Given the description of an element on the screen output the (x, y) to click on. 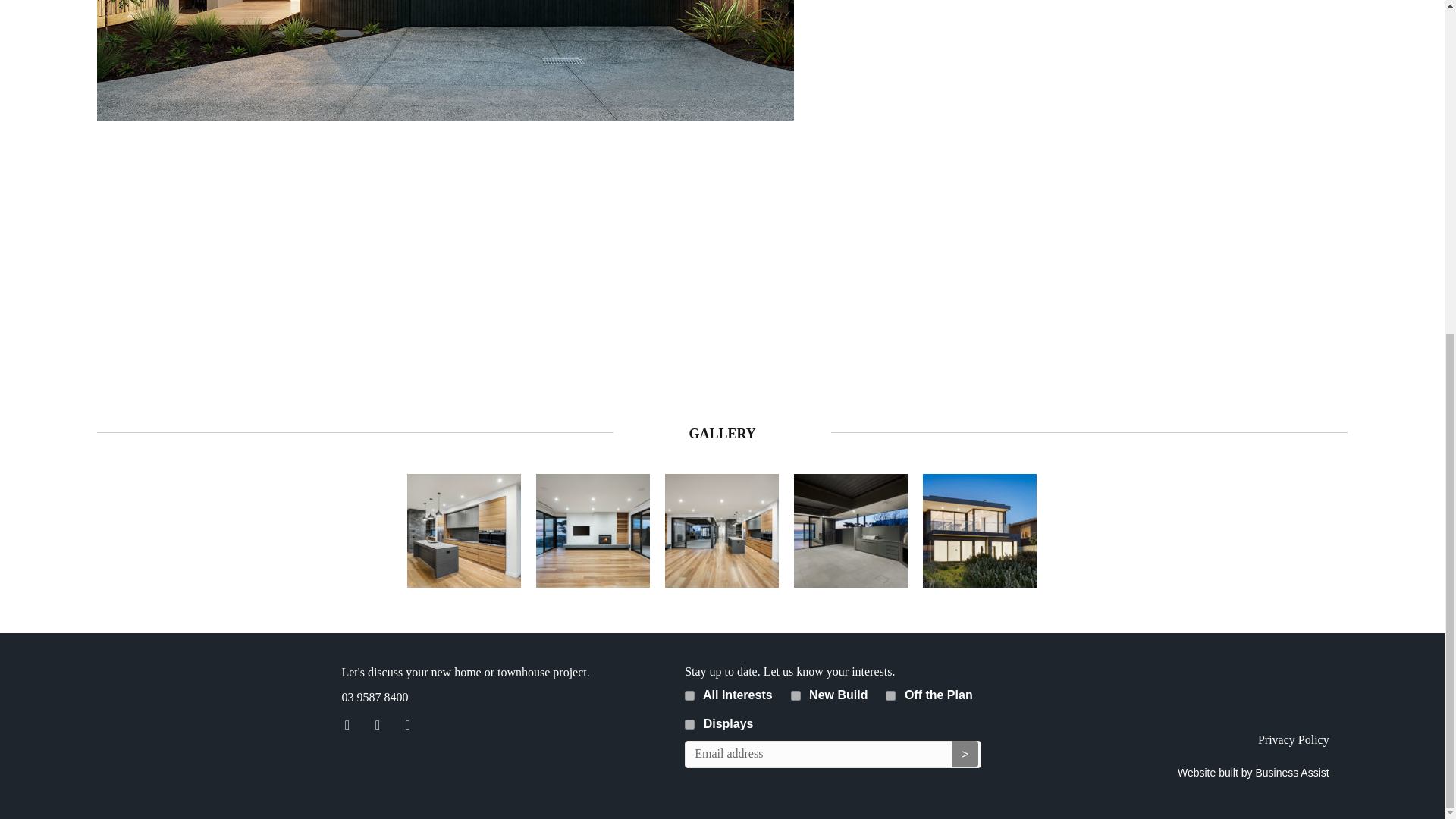
Facebook (346, 724)
Off the Plan (890, 696)
03 9587 8400 (373, 697)
YouTube (407, 724)
New Build (795, 696)
Privacy Policy (1293, 739)
Displays (689, 724)
All Interests (689, 696)
Instagram (377, 724)
